Given the description of an element on the screen output the (x, y) to click on. 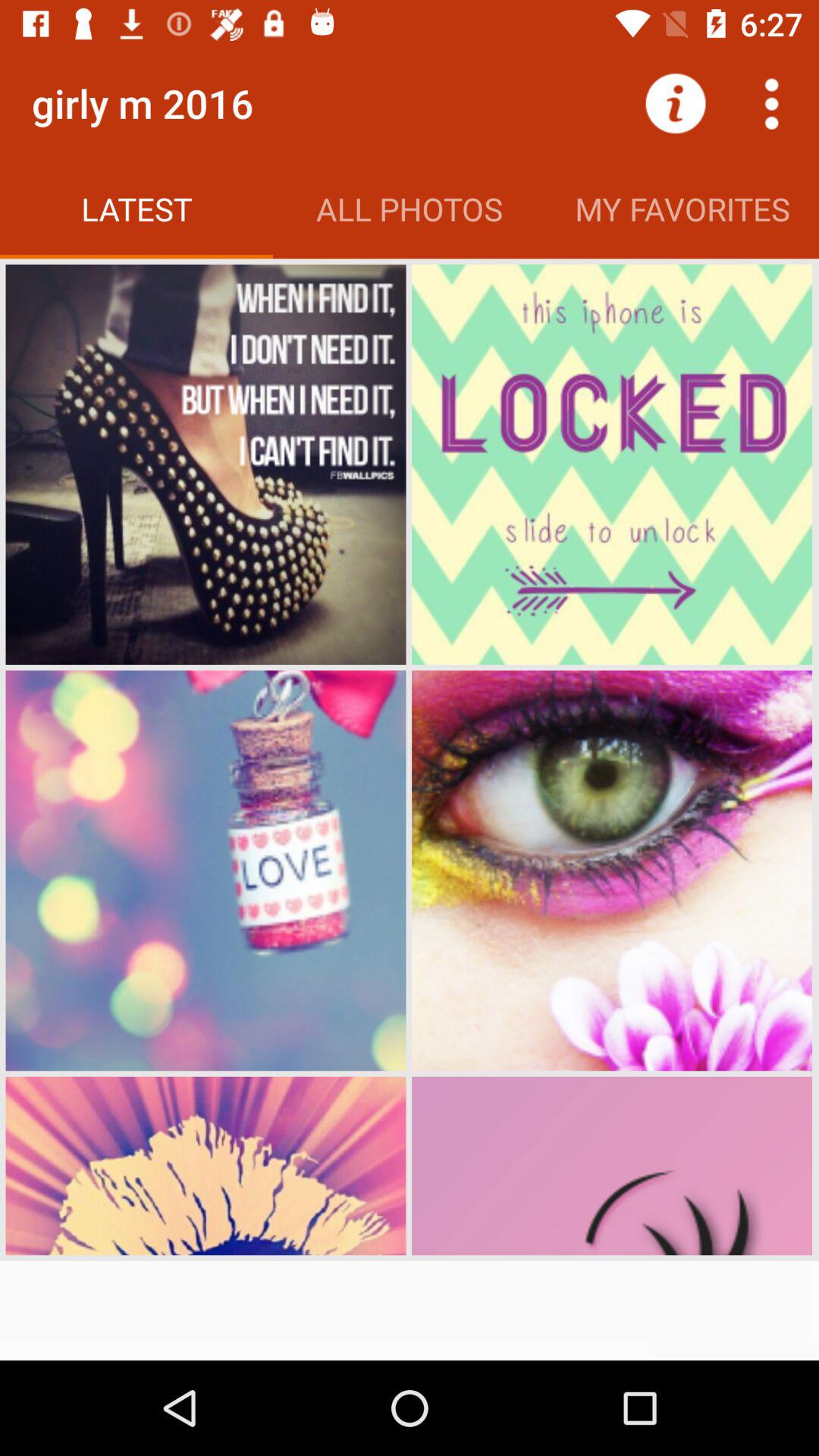
turn on the item to the right of all photos app (675, 103)
